Given the description of an element on the screen output the (x, y) to click on. 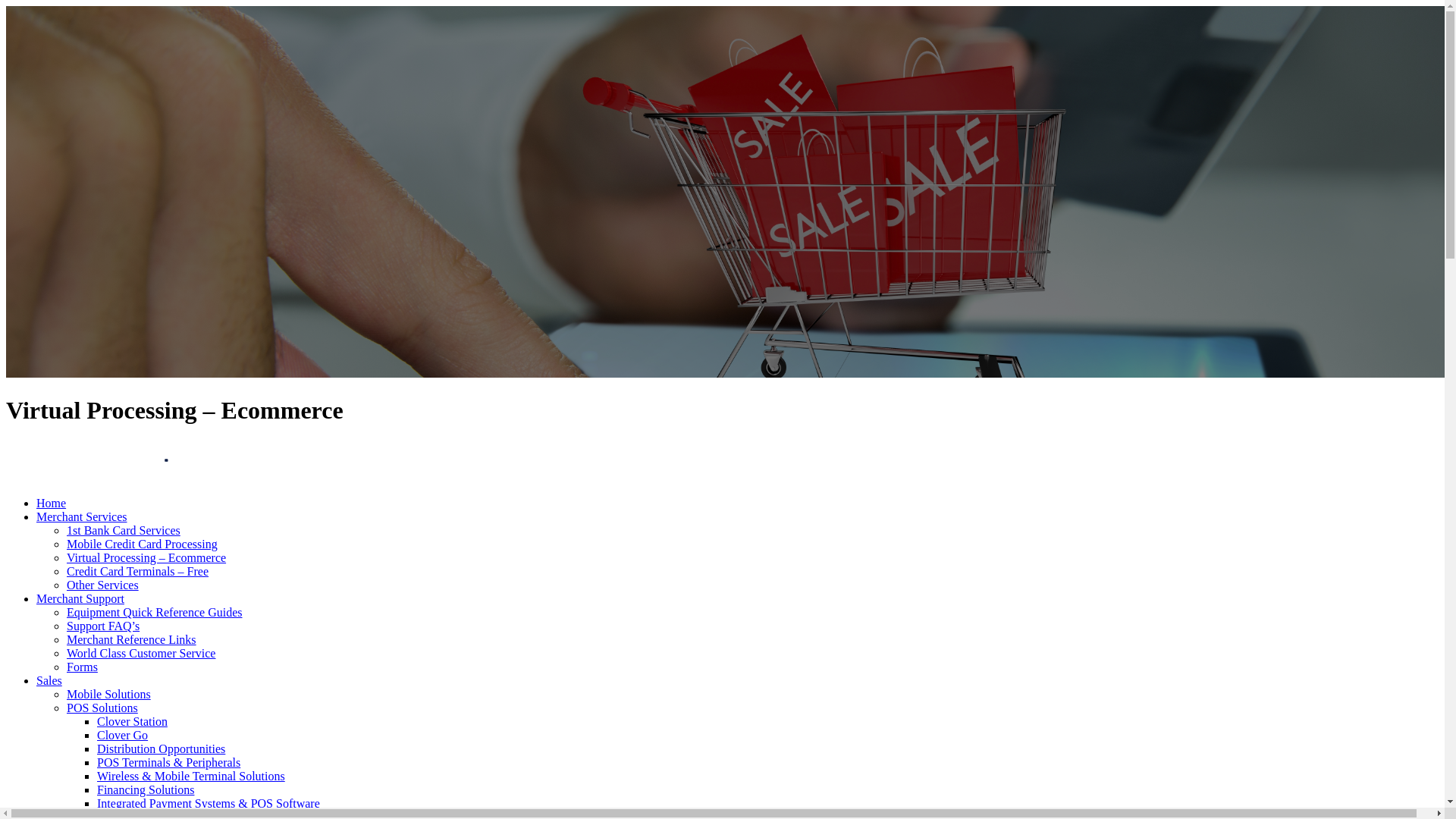
Merchant Services Element type: text (81, 516)
Equipment Quick Reference Guides Element type: text (153, 611)
Forms Element type: text (81, 666)
Other Services Element type: text (102, 584)
World Class Customer Service Element type: text (140, 652)
Clover Station Element type: text (132, 721)
Merchant Support Element type: text (80, 598)
Clover Go Element type: text (122, 734)
POS Solutions Element type: text (102, 707)
Mobile Solutions Element type: text (108, 693)
Home Element type: text (50, 502)
Sales Element type: text (49, 680)
Financing Solutions Element type: text (145, 789)
Wireless & Mobile Terminal Solutions Element type: text (191, 775)
Distribution Opportunities Element type: text (161, 748)
Mobile Credit Card Processing Element type: text (141, 543)
POS Terminals & Peripherals Element type: text (168, 762)
Merchant Reference Links Element type: text (131, 639)
1st Bank Card Services Element type: text (123, 530)
Integrated Payment Systems & POS Software Element type: text (208, 803)
